Given the description of an element on the screen output the (x, y) to click on. 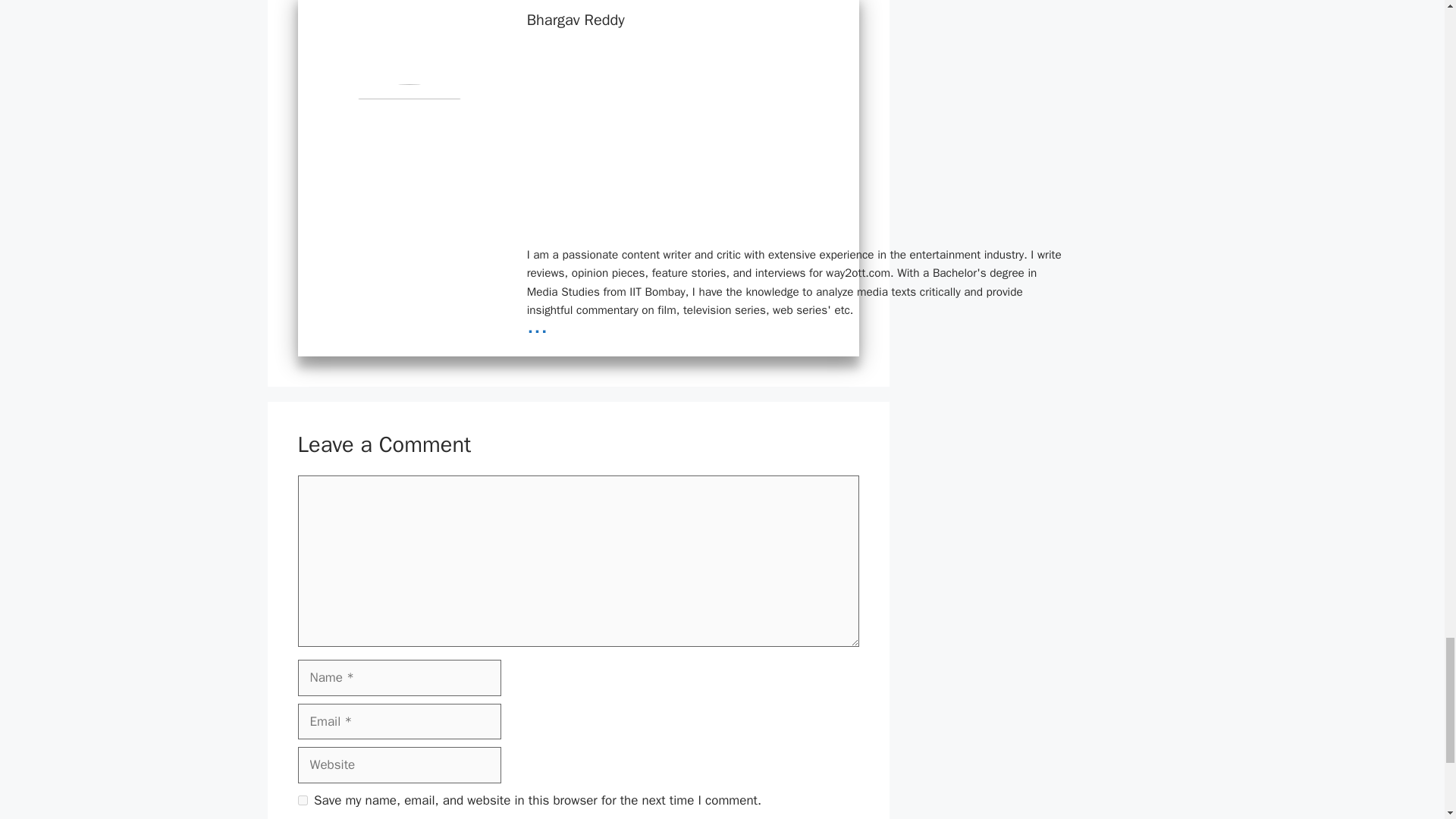
yes (302, 800)
